Given the description of an element on the screen output the (x, y) to click on. 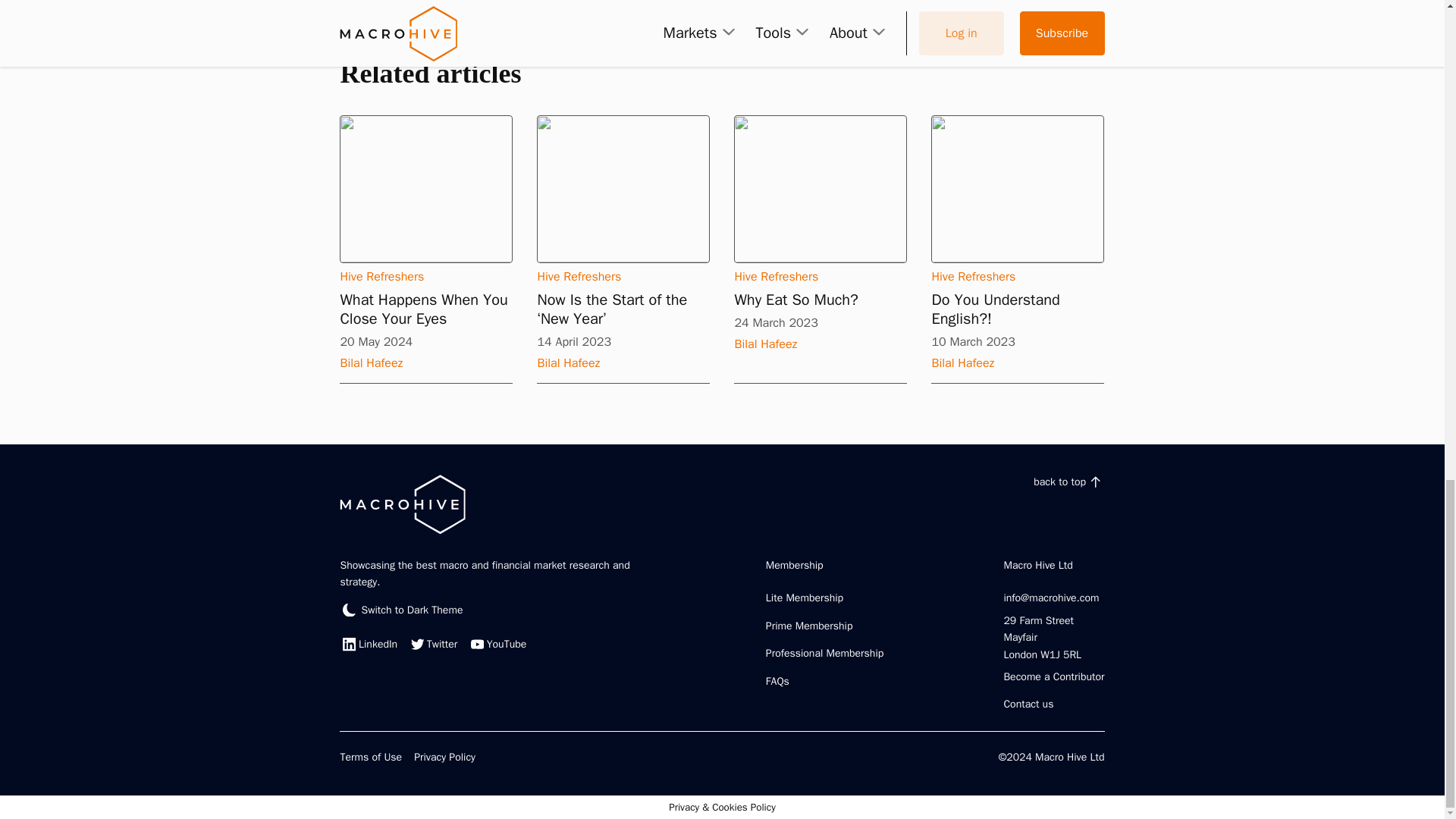
Bilal Hafeez (425, 363)
